Given the description of an element on the screen output the (x, y) to click on. 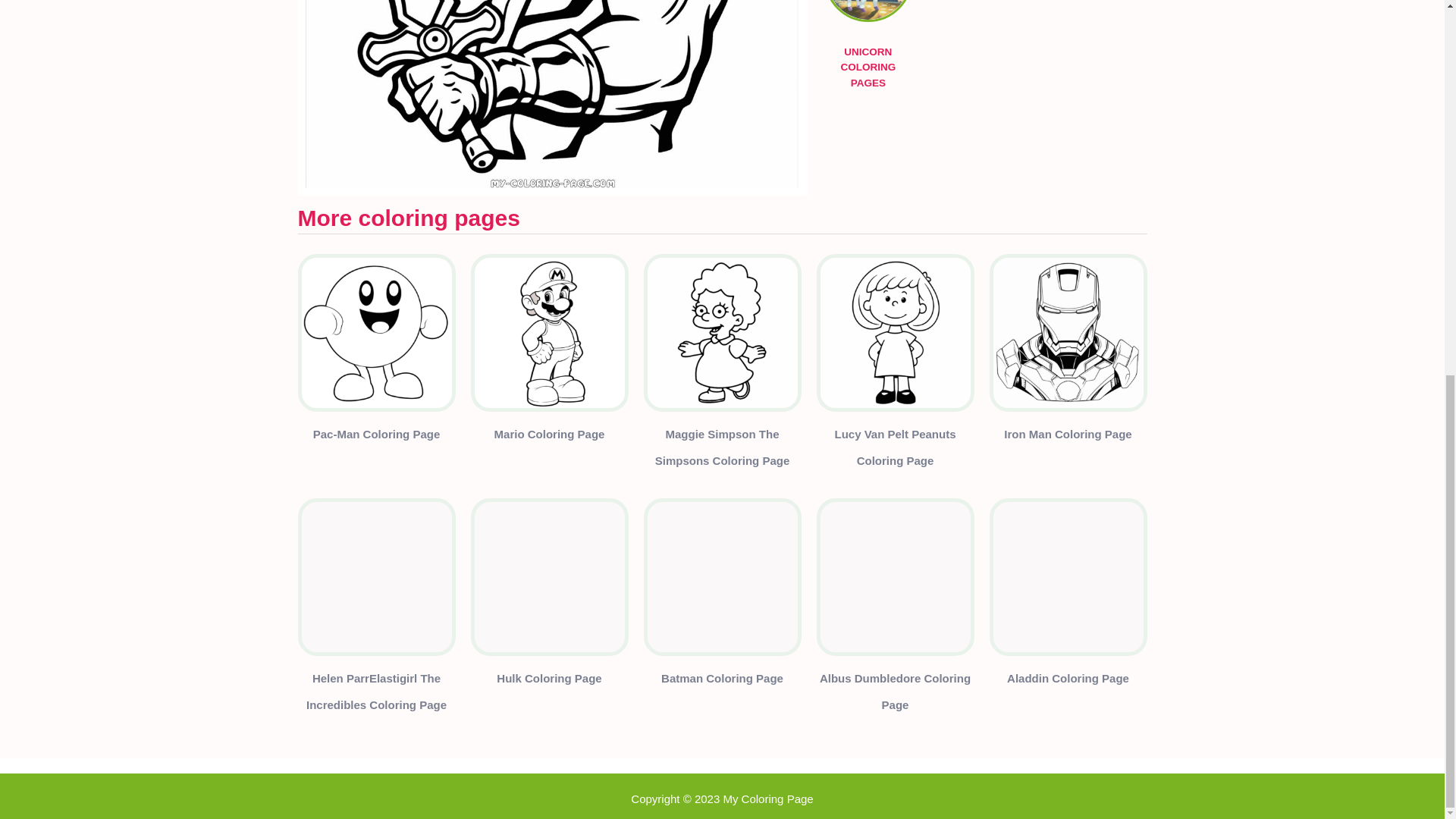
Pac-Man Coloring Page (377, 436)
Maggie Simpson The Simpsons Coloring Page (721, 449)
Lucy Van Pelt Peanuts Coloring Page (894, 449)
Mario Coloring Page (550, 436)
Helen ParrElastigirl The Incredibles Coloring Page (375, 694)
Hulk Coloring Page (548, 681)
UNICORN COLORING PAGES (868, 15)
Iron Man Coloring Page (1067, 436)
